Given the description of an element on the screen output the (x, y) to click on. 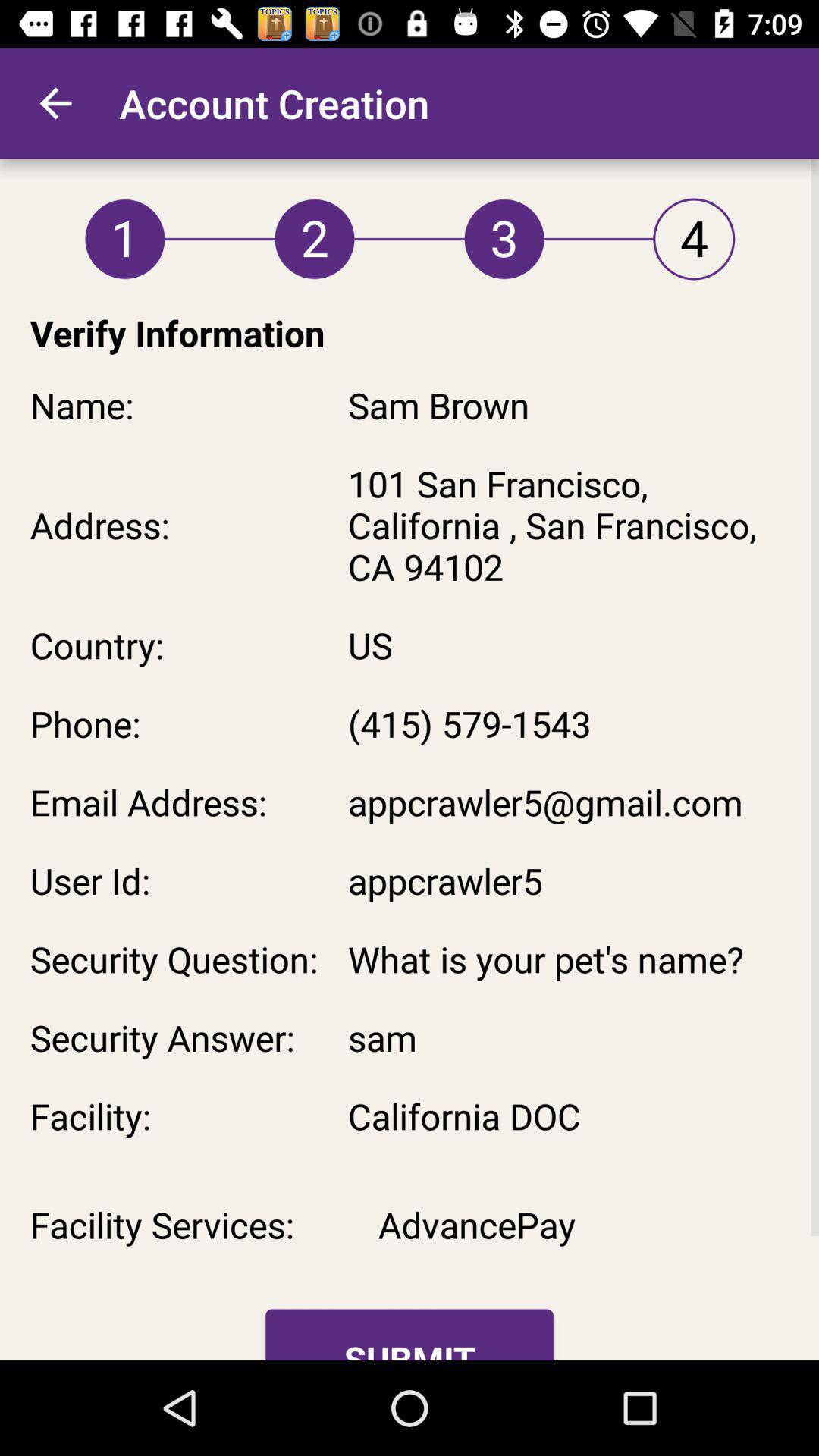
tap the app to the left of the account creation app (55, 103)
